Given the description of an element on the screen output the (x, y) to click on. 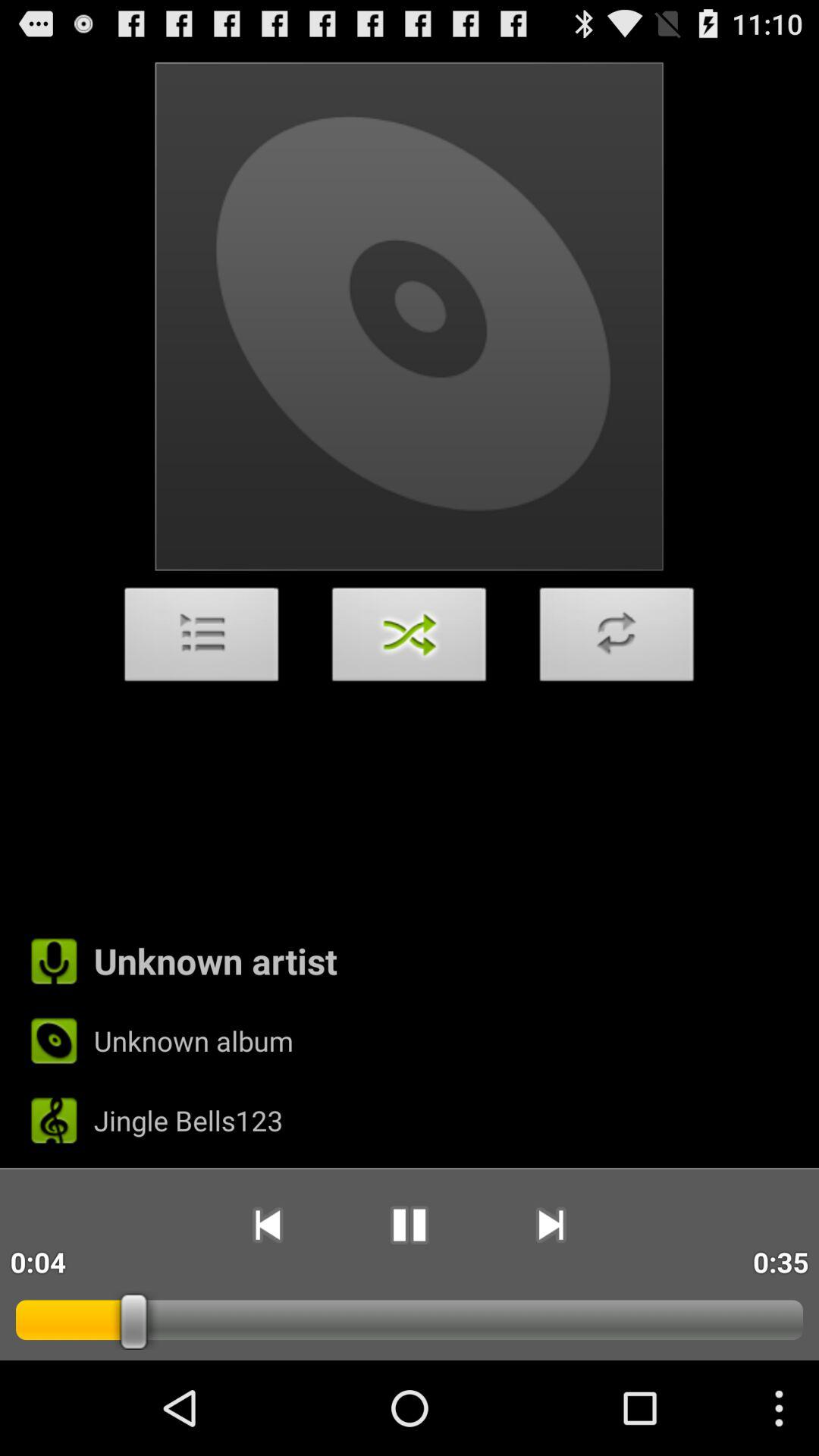
press app next to the 0:12 app (267, 1224)
